Given the description of an element on the screen output the (x, y) to click on. 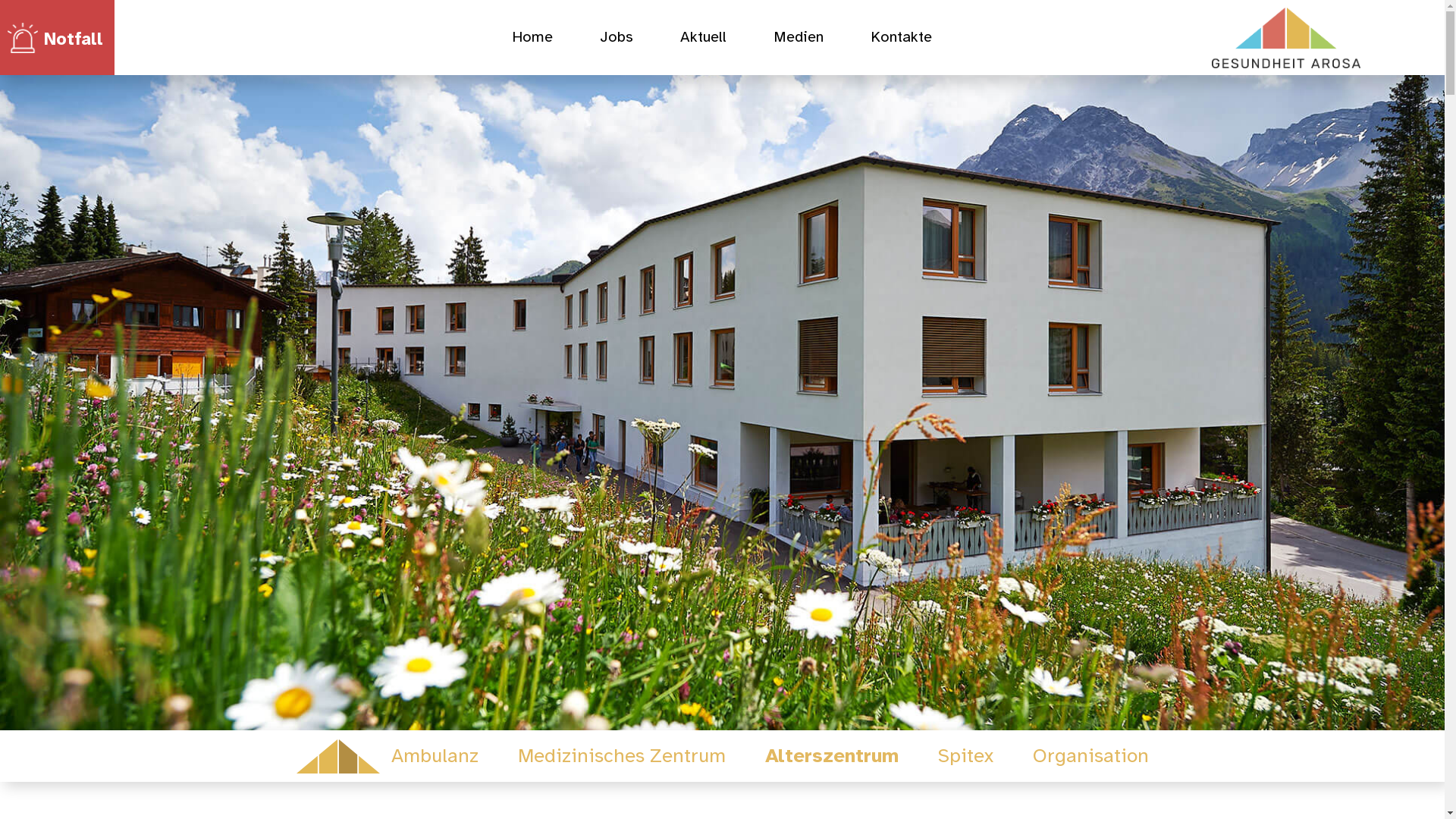
Aktuell Element type: text (703, 40)
Home Element type: text (531, 40)
Jobs Element type: text (616, 40)
Medien Element type: text (798, 40)
Organisation Element type: text (1090, 756)
Ambulanz Element type: text (434, 756)
Alterszentrum Element type: text (830, 756)
Kontakte Element type: text (901, 40)
Spitex Element type: text (964, 756)
mk-gesundheitarosa-logo-rgb-rz3-pos-gr Element type: hover (1285, 37)
Medizinisches Zentrum Element type: text (620, 756)
